Given the description of an element on the screen output the (x, y) to click on. 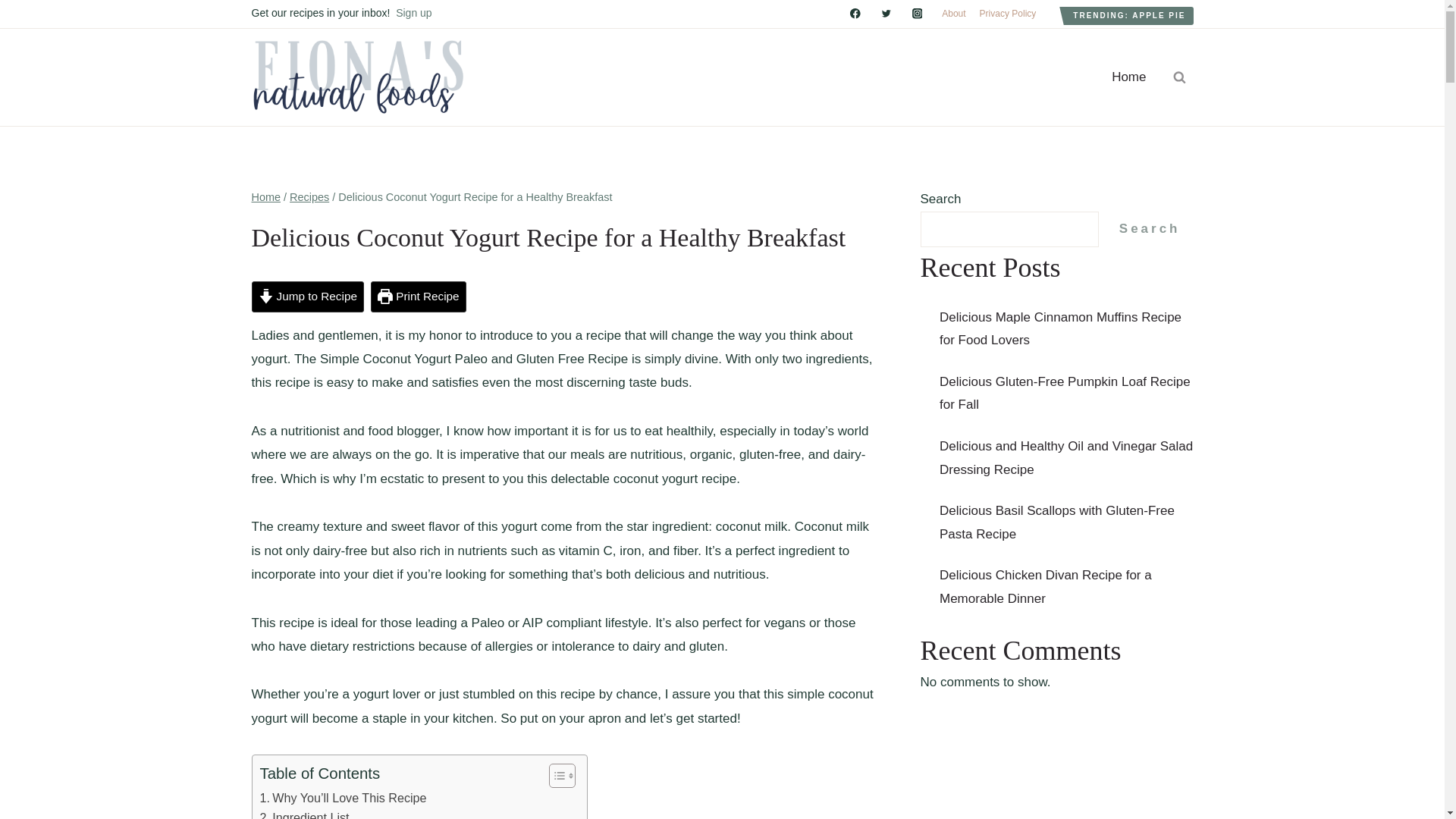
TRENDING: APPLE PIE (1128, 15)
Privacy Policy (1007, 13)
Ingredient List (304, 813)
Home (1128, 77)
Ingredient List (304, 813)
Print Recipe (418, 296)
About (953, 13)
Recipes (309, 196)
Sign up (413, 12)
Home (266, 196)
Jump to Recipe (307, 296)
